Given the description of an element on the screen output the (x, y) to click on. 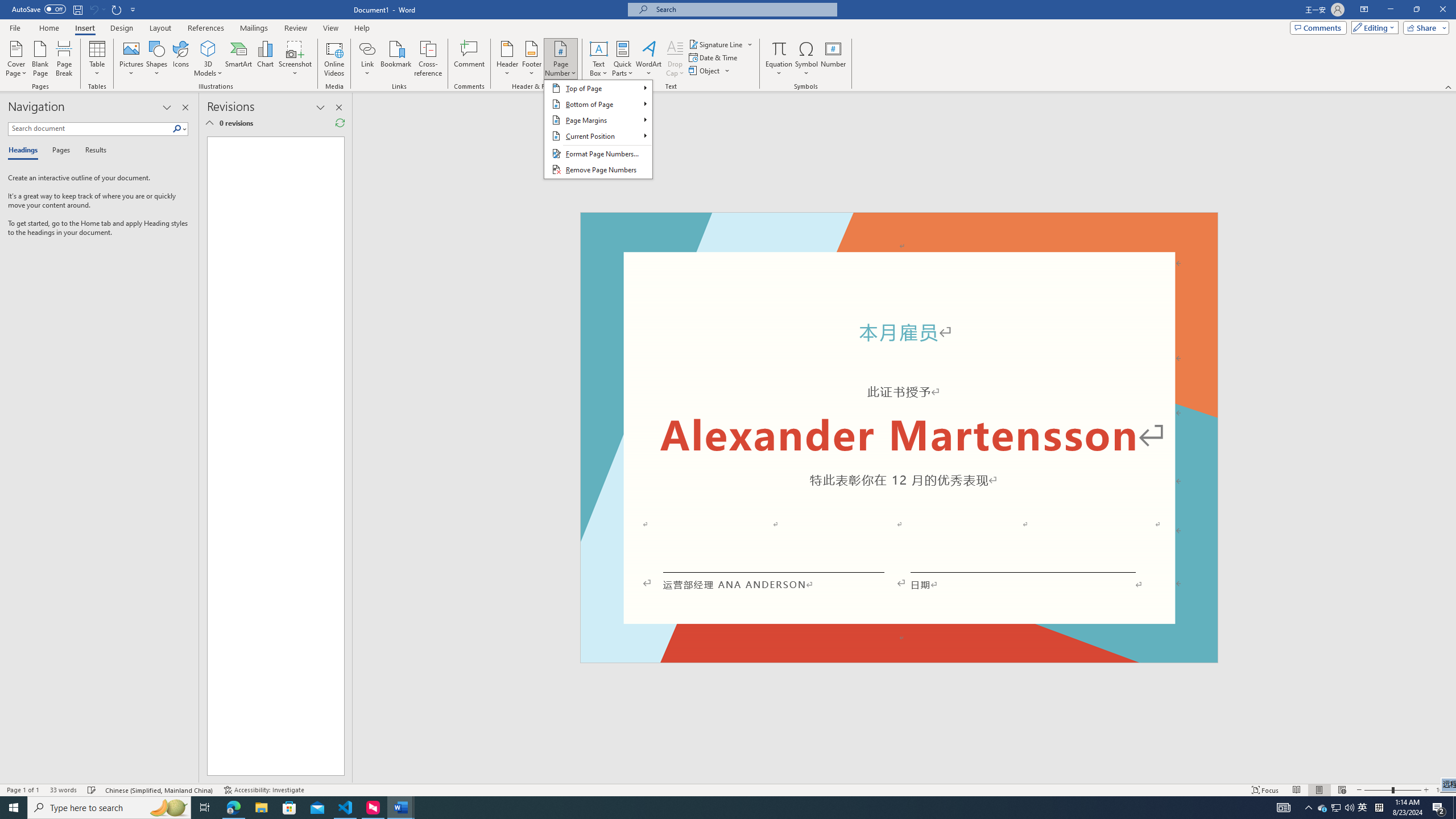
Text Box (598, 58)
Comment (469, 58)
Date & Time... (714, 56)
Equation (778, 58)
Number... (833, 58)
Search highlights icon opens search home window (167, 807)
WordArt (648, 58)
Link (367, 58)
